Given the description of an element on the screen output the (x, y) to click on. 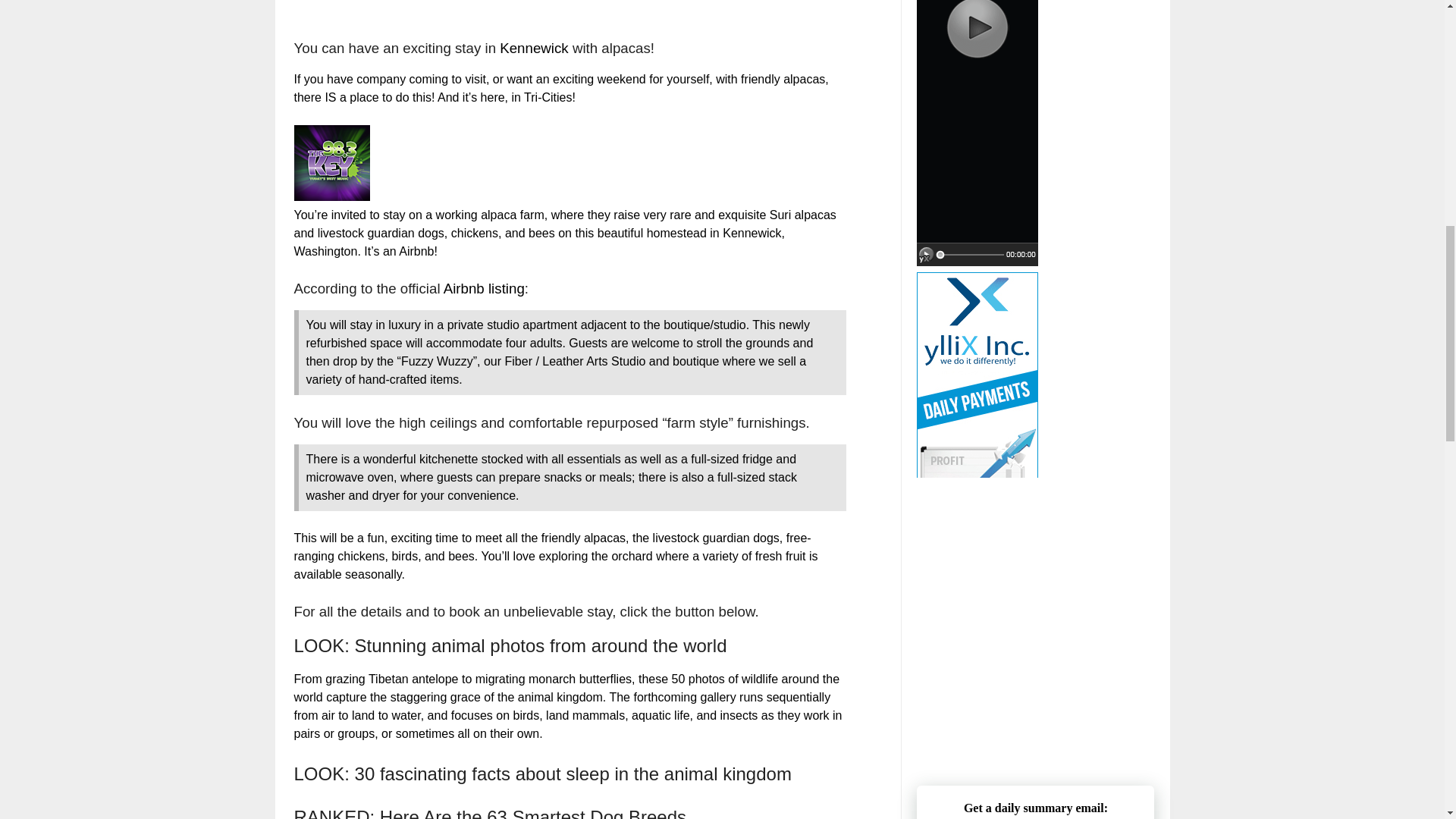
Airbnb listing (484, 288)
Kennewick (751, 232)
Airbnb! (417, 250)
Tri-Cities (548, 97)
Kennewick (535, 48)
